Given the description of an element on the screen output the (x, y) to click on. 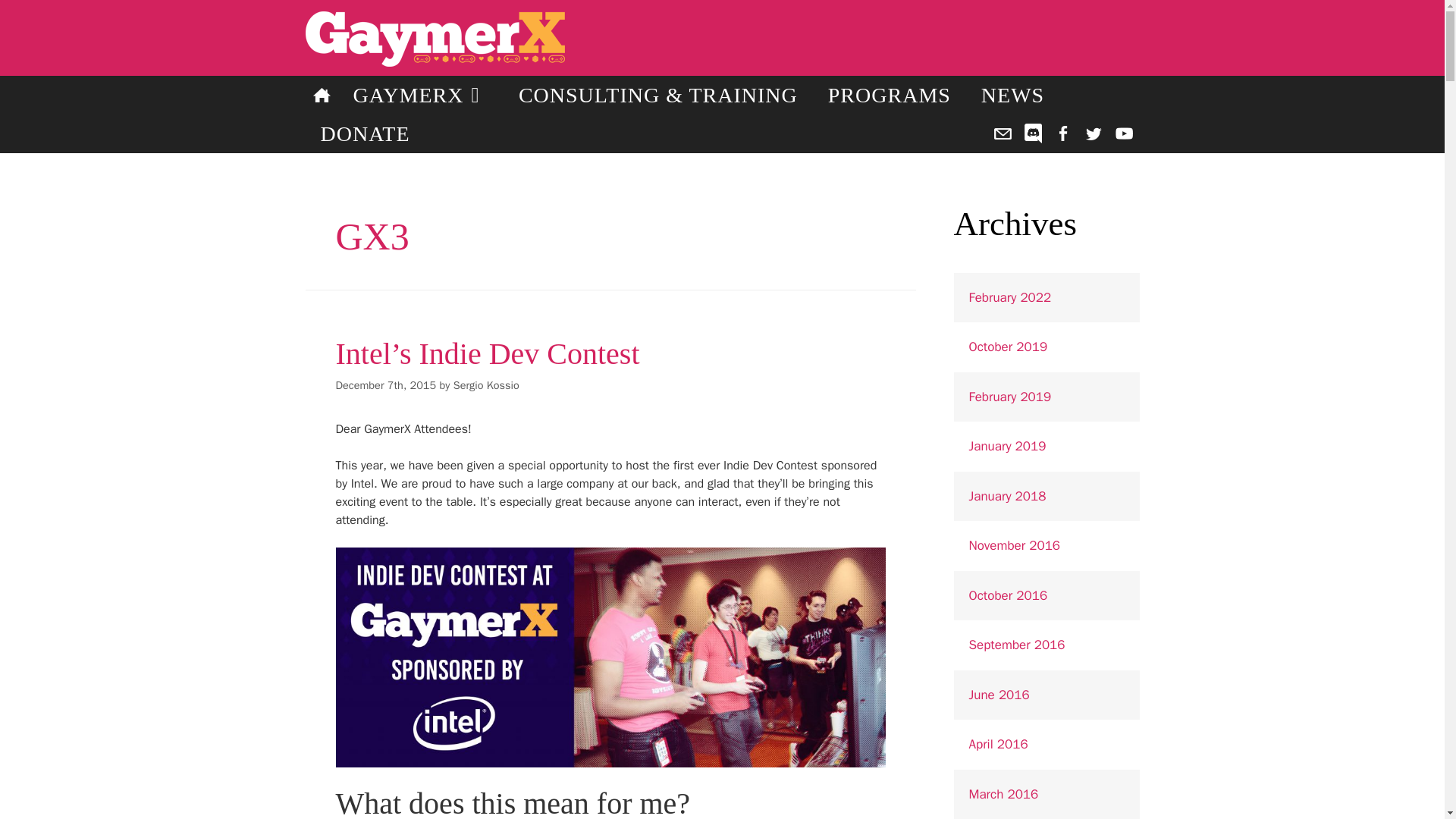
Sergio Kossio (485, 385)
View all posts by Sergio Kossio (485, 385)
PROGRAMS (889, 95)
NEWS (1012, 95)
GaymerX: Everyone Games (611, 38)
GAYMERX (420, 95)
DONATE (364, 133)
GaymerX: Everyone Games (611, 38)
